Given the description of an element on the screen output the (x, y) to click on. 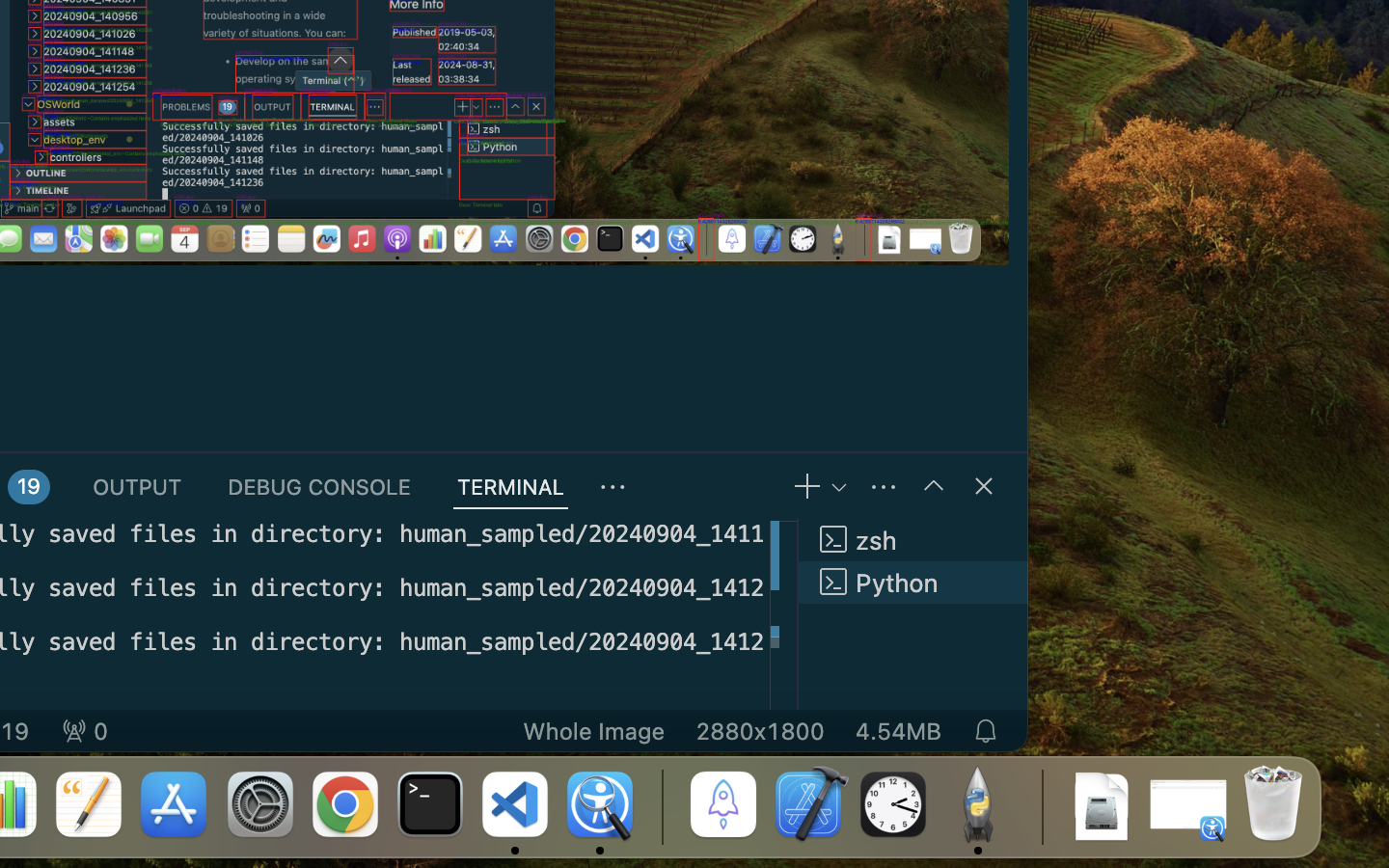
 Element type: AXCheckBox (933, 485)
zsh  Element type: AXGroup (913, 539)
0 OUTPUT Element type: AXRadioButton (137, 485)
 Element type: AXGroup (613, 487)
0 DEBUG CONSOLE Element type: AXRadioButton (319, 485)
